Given the description of an element on the screen output the (x, y) to click on. 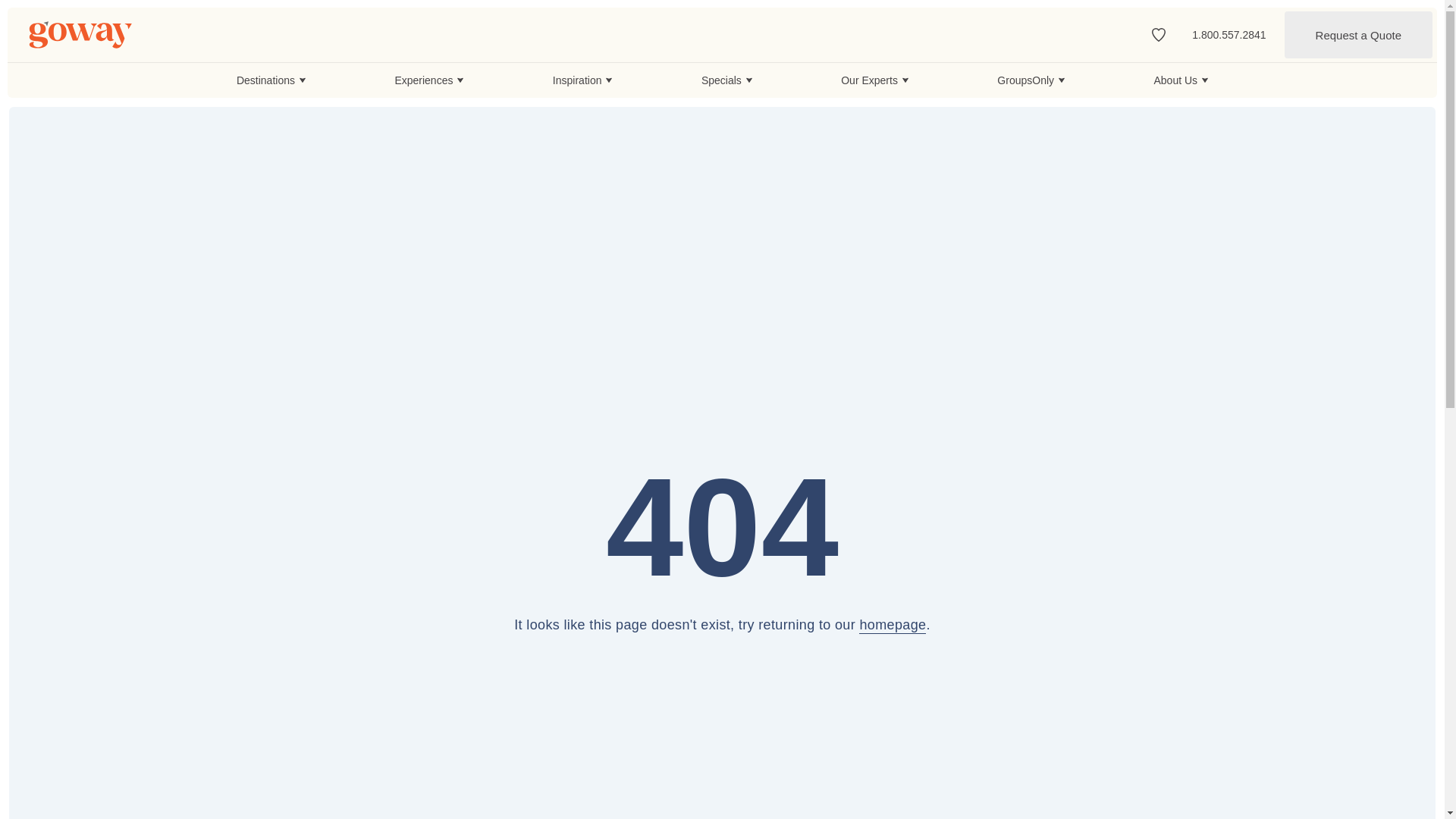
1.800.557.2841 (1228, 34)
Request a Quote (1358, 34)
Destinations (270, 80)
